Given the description of an element on the screen output the (x, y) to click on. 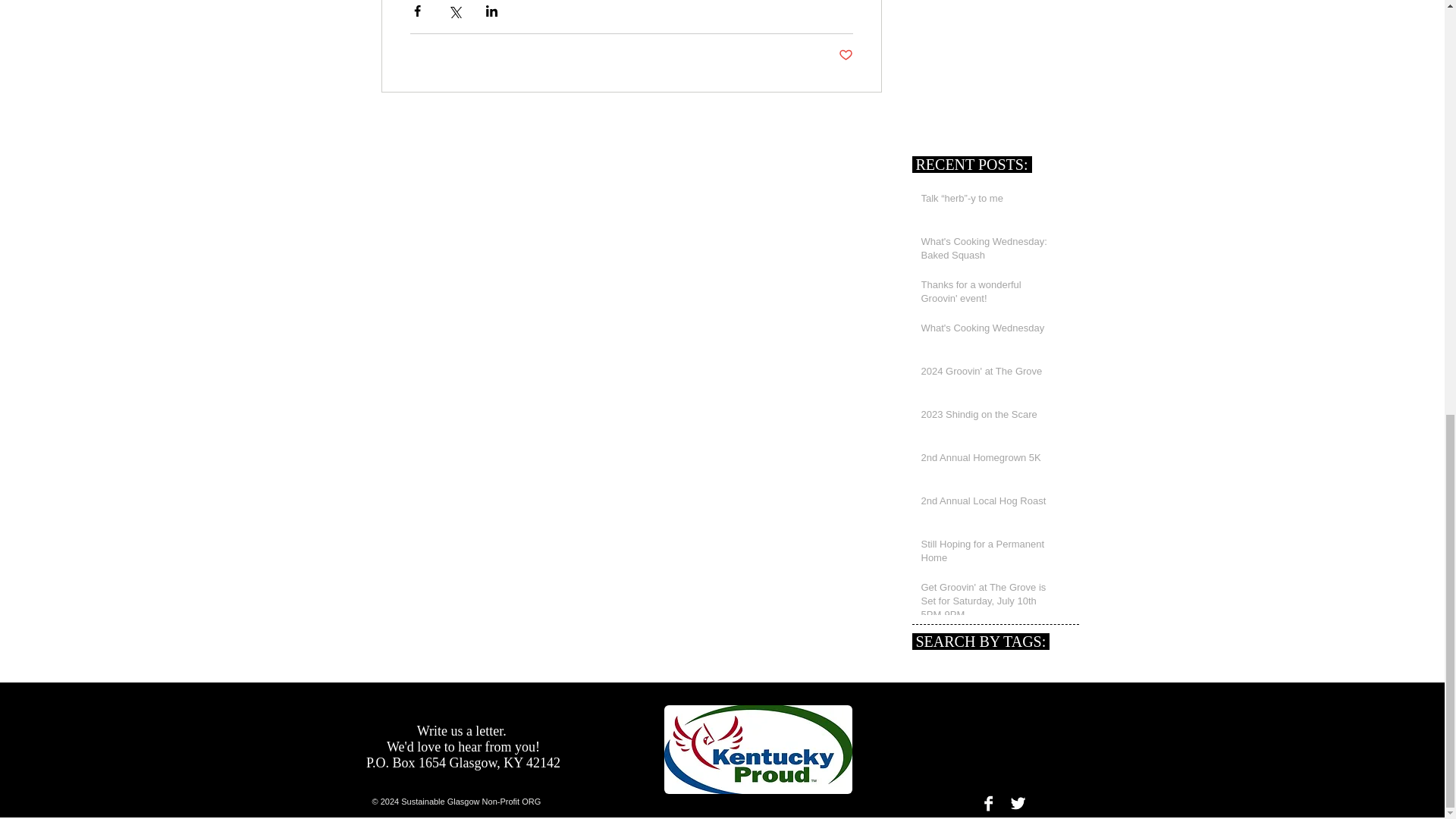
2nd Annual Homegrown 5K (989, 460)
Still Hoping for a Permanent Home (989, 553)
Post not marked as liked (845, 55)
2nd Annual Local Hog Roast (989, 504)
2024 Groovin' at The Grove (989, 374)
What's Cooking Wednesday: Baked Squash (989, 251)
What's Cooking Wednesday (989, 331)
Thanks for a wonderful Groovin' event! (989, 295)
2023 Shindig on the Scare (989, 417)
